Given the description of an element on the screen output the (x, y) to click on. 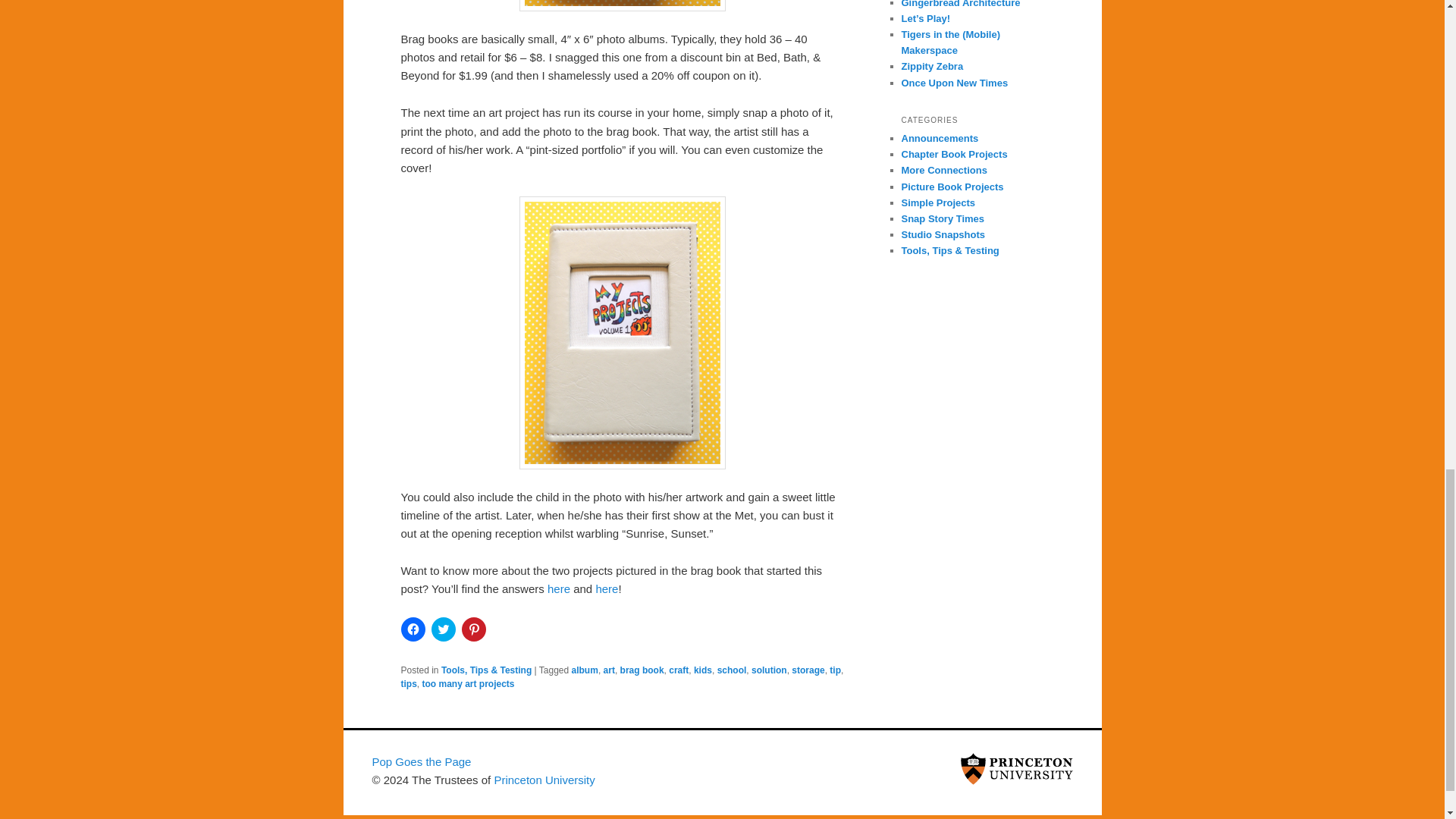
Click to share on Facebook (412, 629)
brag book (641, 670)
Good Hair Day (606, 588)
solution (769, 670)
tips (408, 683)
kids (702, 670)
craft (678, 670)
here (558, 588)
storage (808, 670)
tip (835, 670)
school (731, 670)
here (606, 588)
too many art projects (468, 683)
Pop Goes the Page (420, 761)
Click to share on Pinterest (472, 629)
